Given the description of an element on the screen output the (x, y) to click on. 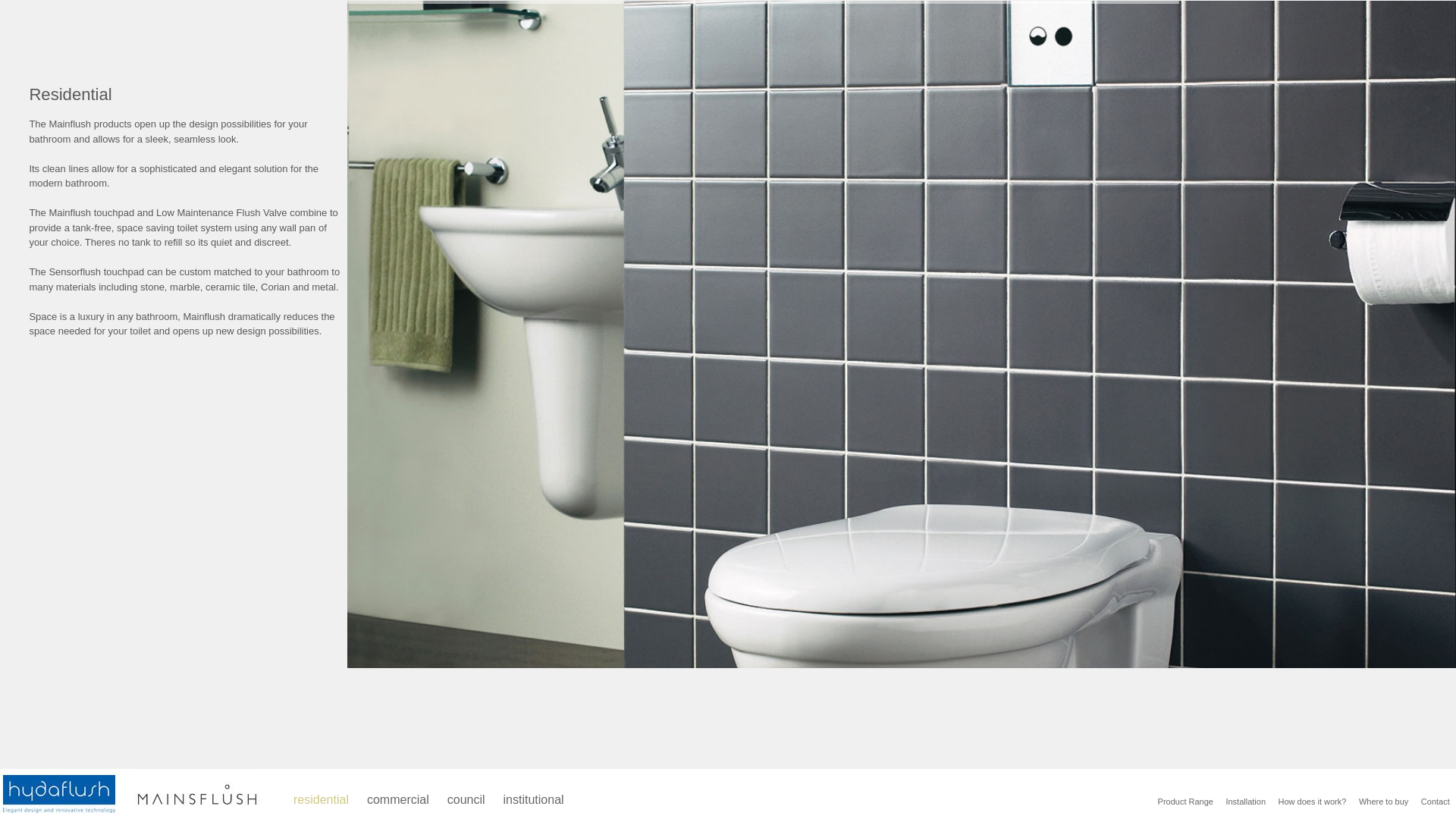
Installation Element type: text (1245, 801)
residential Element type: text (320, 799)
How does it work? Element type: text (1311, 801)
institutional Element type: text (533, 799)
council Element type: text (466, 799)
Product Range Element type: text (1185, 801)
commercial Element type: text (397, 799)
Where to buy Element type: text (1383, 801)
